Given the description of an element on the screen output the (x, y) to click on. 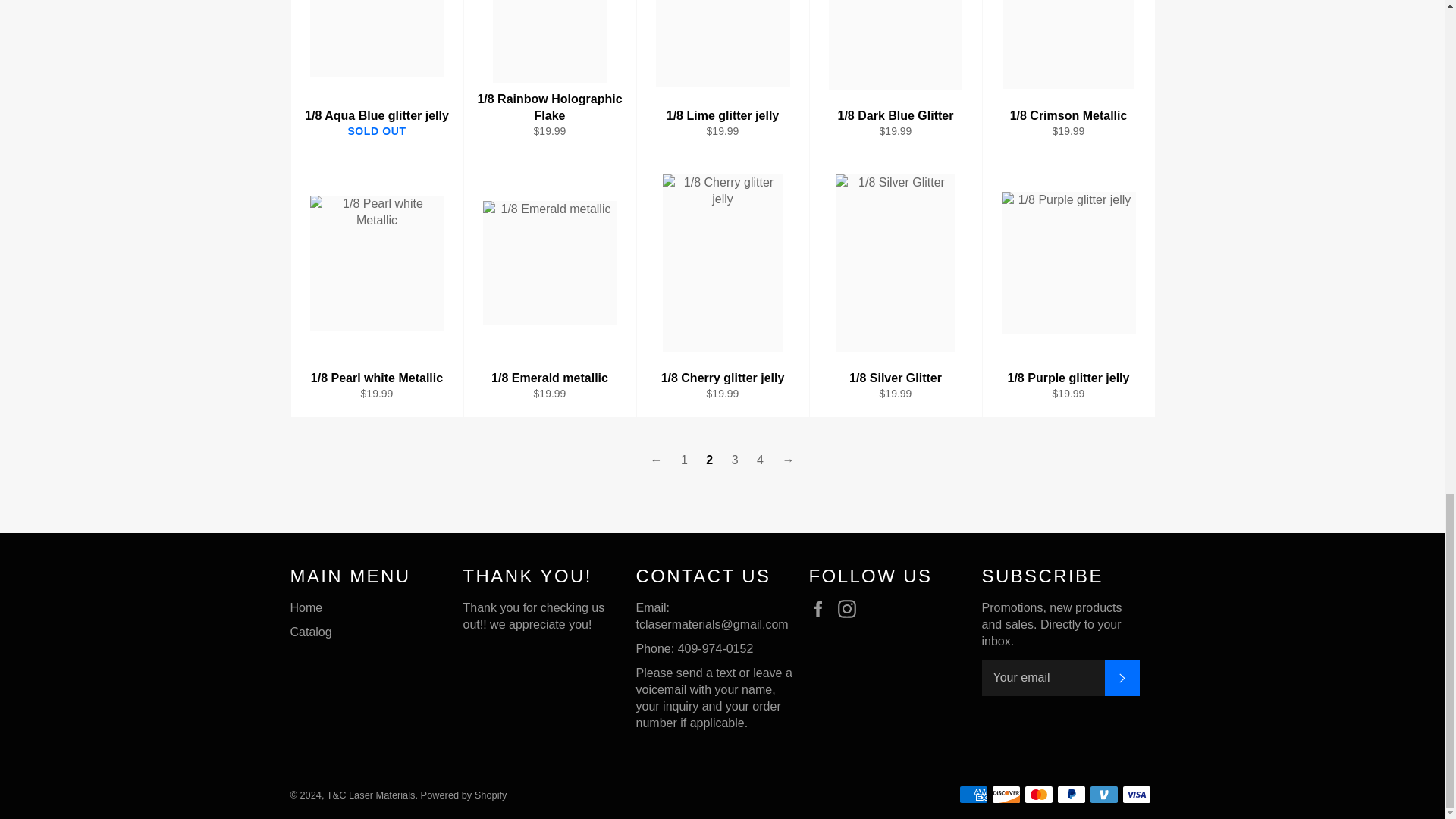
4 (760, 459)
3 (734, 459)
1 (683, 459)
